Given the description of an element on the screen output the (x, y) to click on. 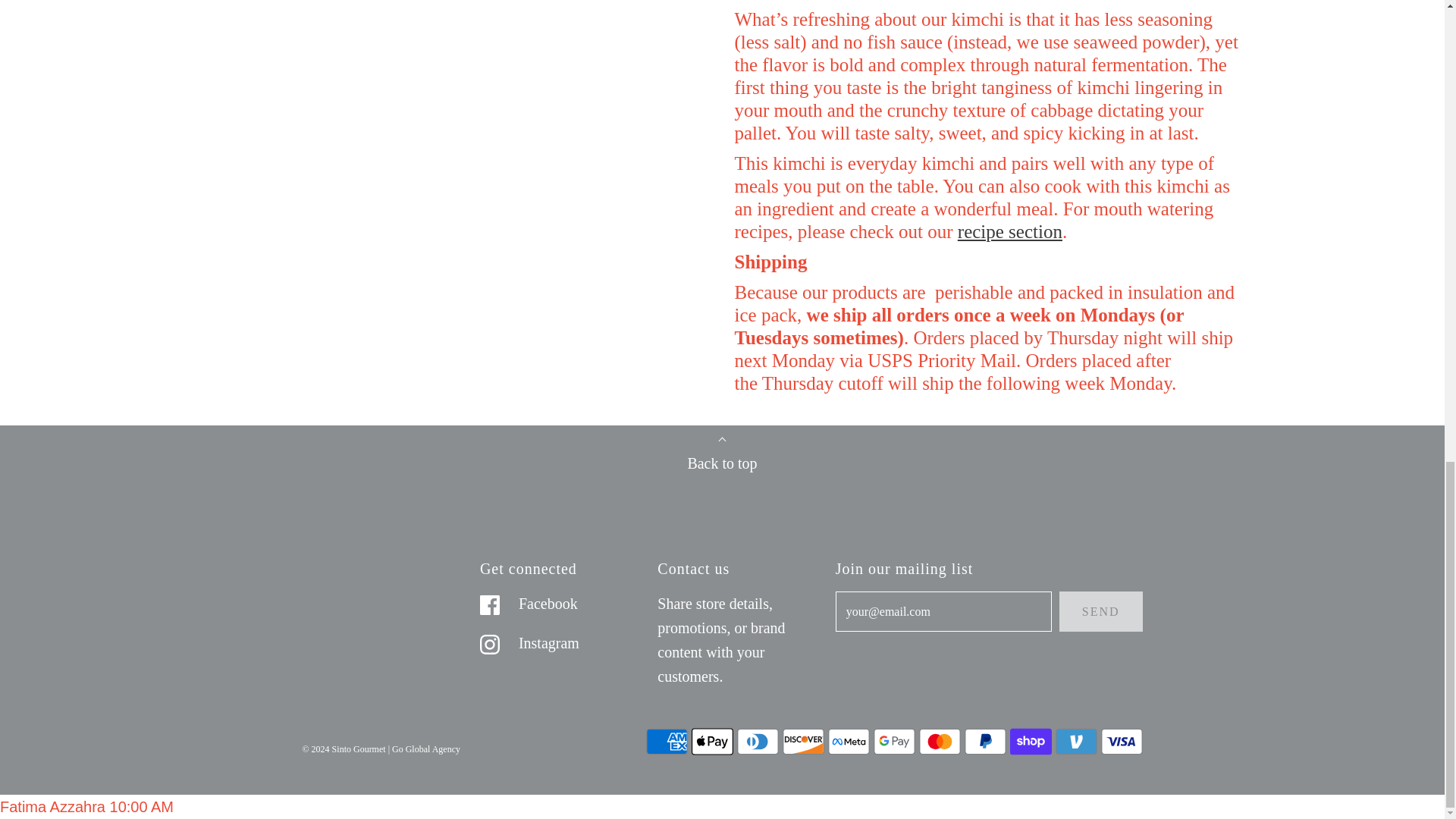
Instagram icon (489, 644)
Shop Pay (1030, 741)
Diners Club (757, 741)
Facebook icon (489, 605)
Visa (1121, 741)
Discover (803, 741)
Apple Pay (712, 741)
Meta Pay (848, 741)
Sinto Gourmet Recipes (1010, 231)
American Express (666, 741)
